Given the description of an element on the screen output the (x, y) to click on. 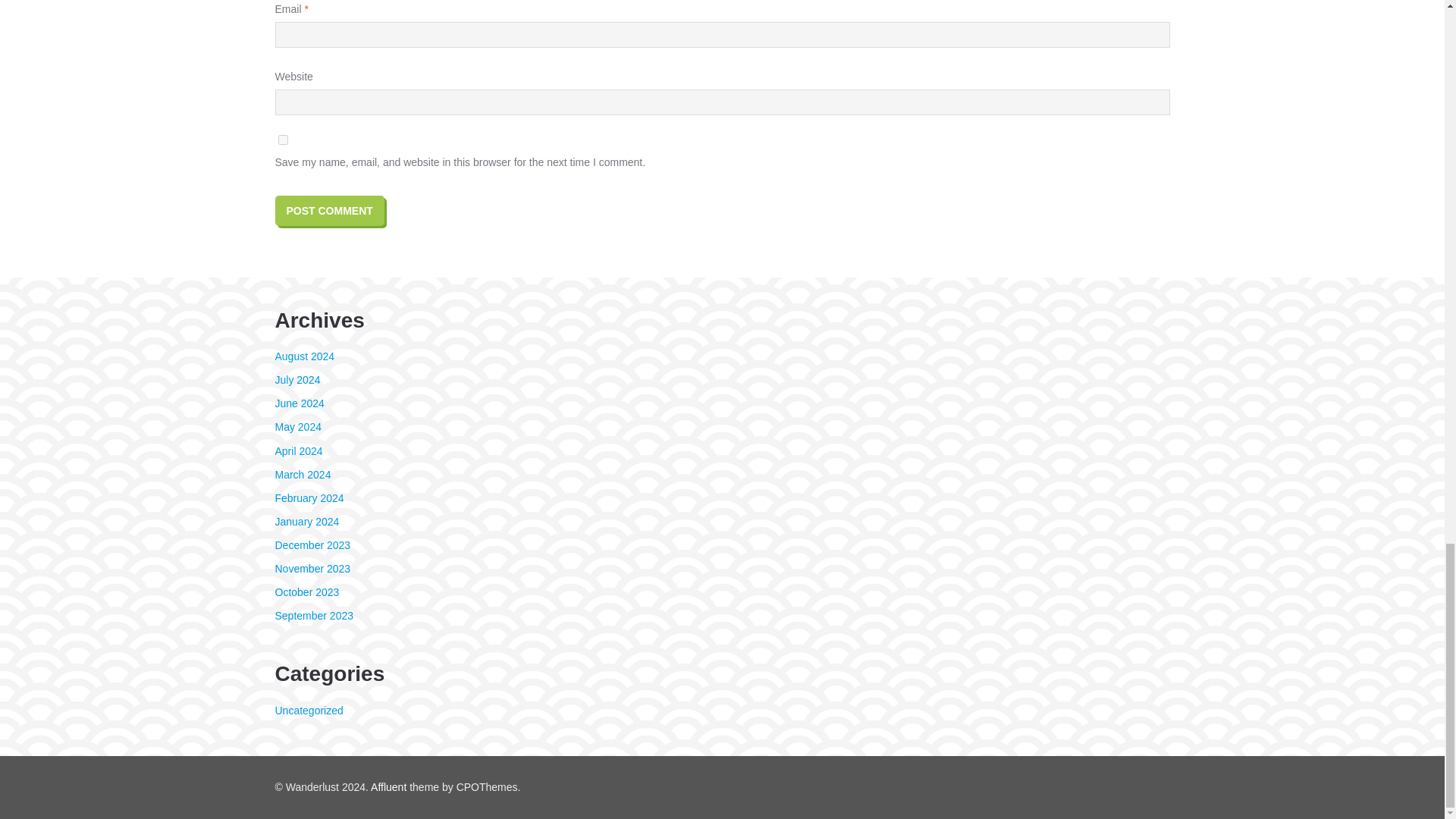
January 2024 (307, 521)
Uncategorized (308, 710)
yes (282, 139)
March 2024 (302, 474)
May 2024 (297, 426)
Post Comment (329, 210)
November 2023 (312, 568)
July 2024 (297, 379)
April 2024 (298, 451)
August 2024 (304, 356)
